Given the description of an element on the screen output the (x, y) to click on. 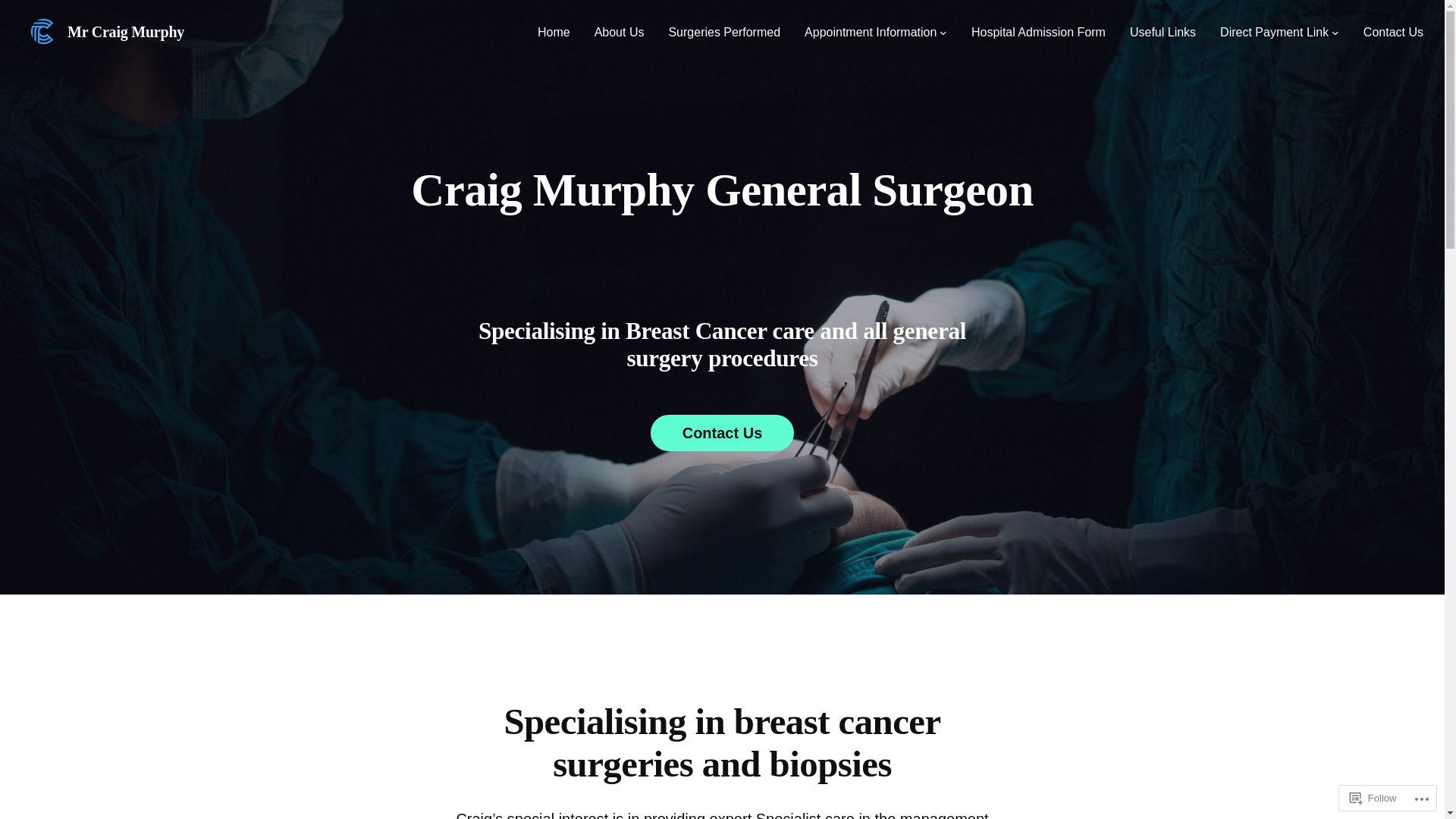
Contact Us Element type: text (1393, 31)
Surgeries Performed Element type: text (724, 31)
About Us Element type: text (619, 31)
Follow Element type: text (1372, 797)
Home Element type: text (553, 31)
Hospital Admission Form Element type: text (1038, 31)
Useful Links Element type: text (1162, 31)
Contact Us Element type: text (722, 432)
Direct Payment Link Element type: text (1274, 31)
Mr Craig Murphy Element type: text (125, 31)
Appointment Information Element type: text (870, 31)
